Given the description of an element on the screen output the (x, y) to click on. 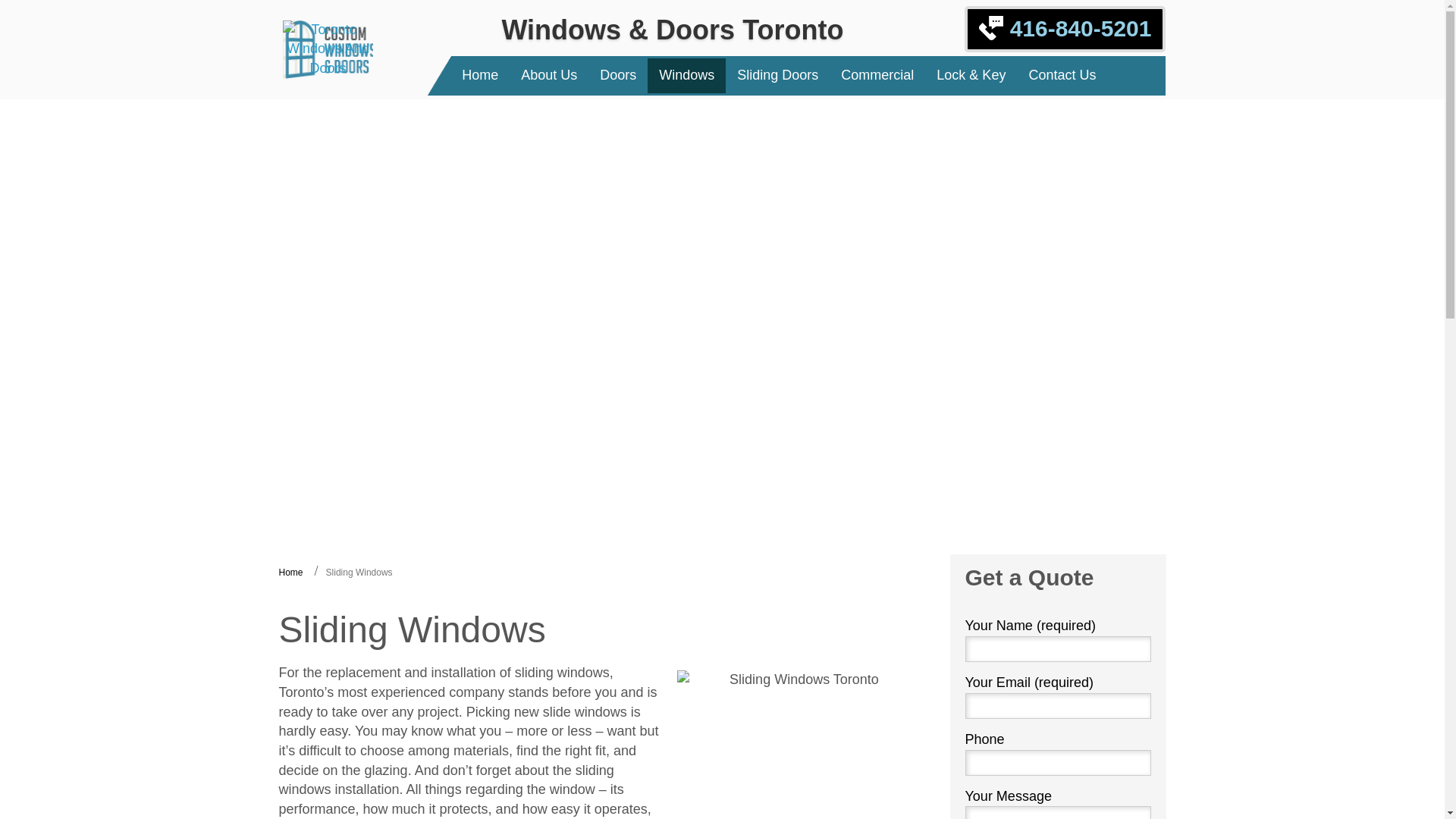
Home (290, 572)
Doors (617, 75)
Home (479, 75)
Sliding Doors (777, 75)
Windows (686, 75)
416-840-5201 (1064, 28)
About Us (548, 75)
Contact Us (1061, 75)
Commercial (876, 75)
